Given the description of an element on the screen output the (x, y) to click on. 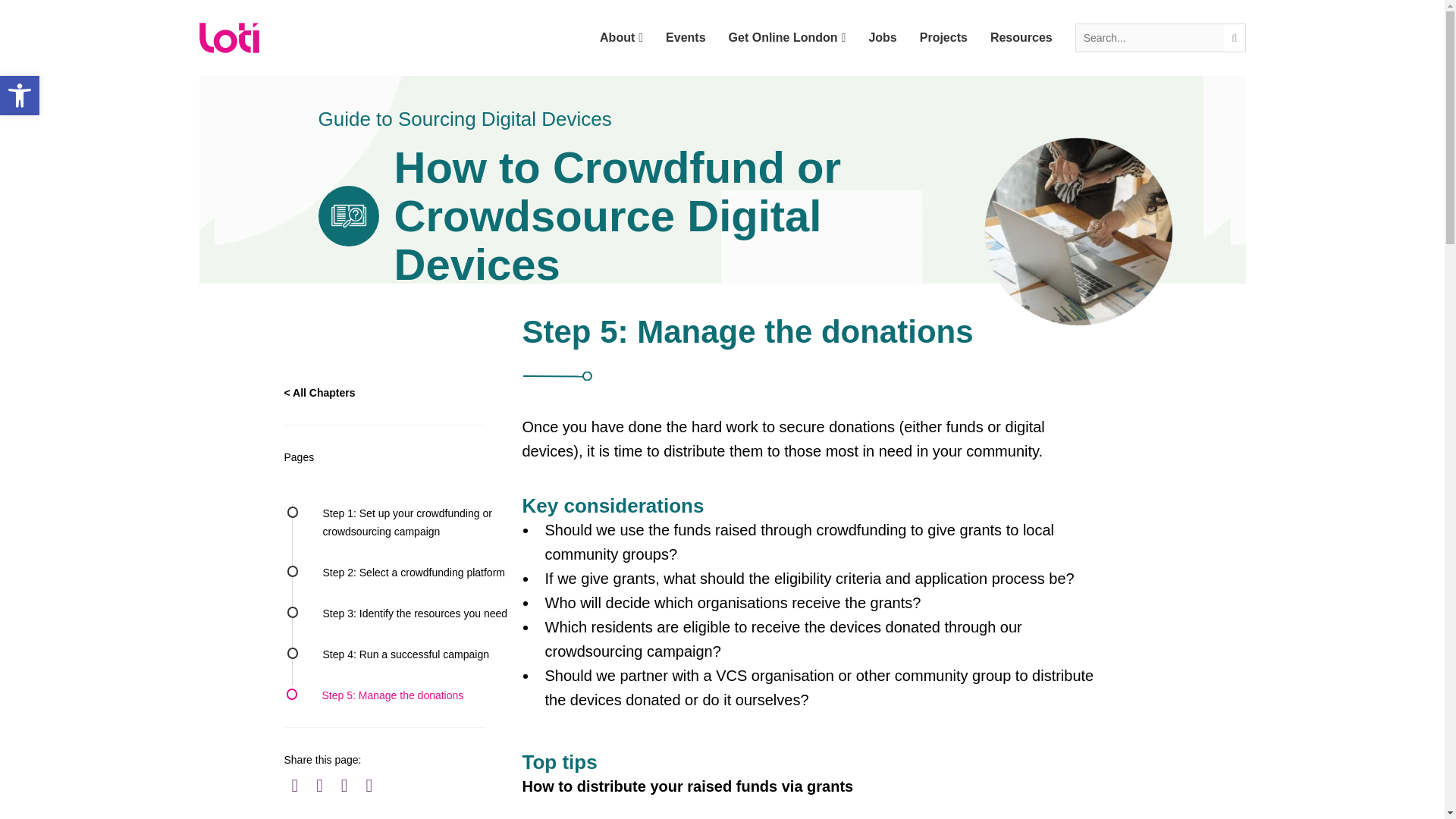
Step 5: Manage the donations (392, 695)
LOTI (228, 37)
Step 2: Select a crowdfunding platform (414, 572)
Accessibility Tools (19, 95)
Step 4: Run a successful campaign (406, 654)
Pages (397, 456)
Accessibility Tools (19, 95)
Get Online London (787, 38)
Step 1: Set up your crowdfunding or crowdsourcing campaign (407, 521)
Step 3: Identify the resources you need (415, 613)
